Given the description of an element on the screen output the (x, y) to click on. 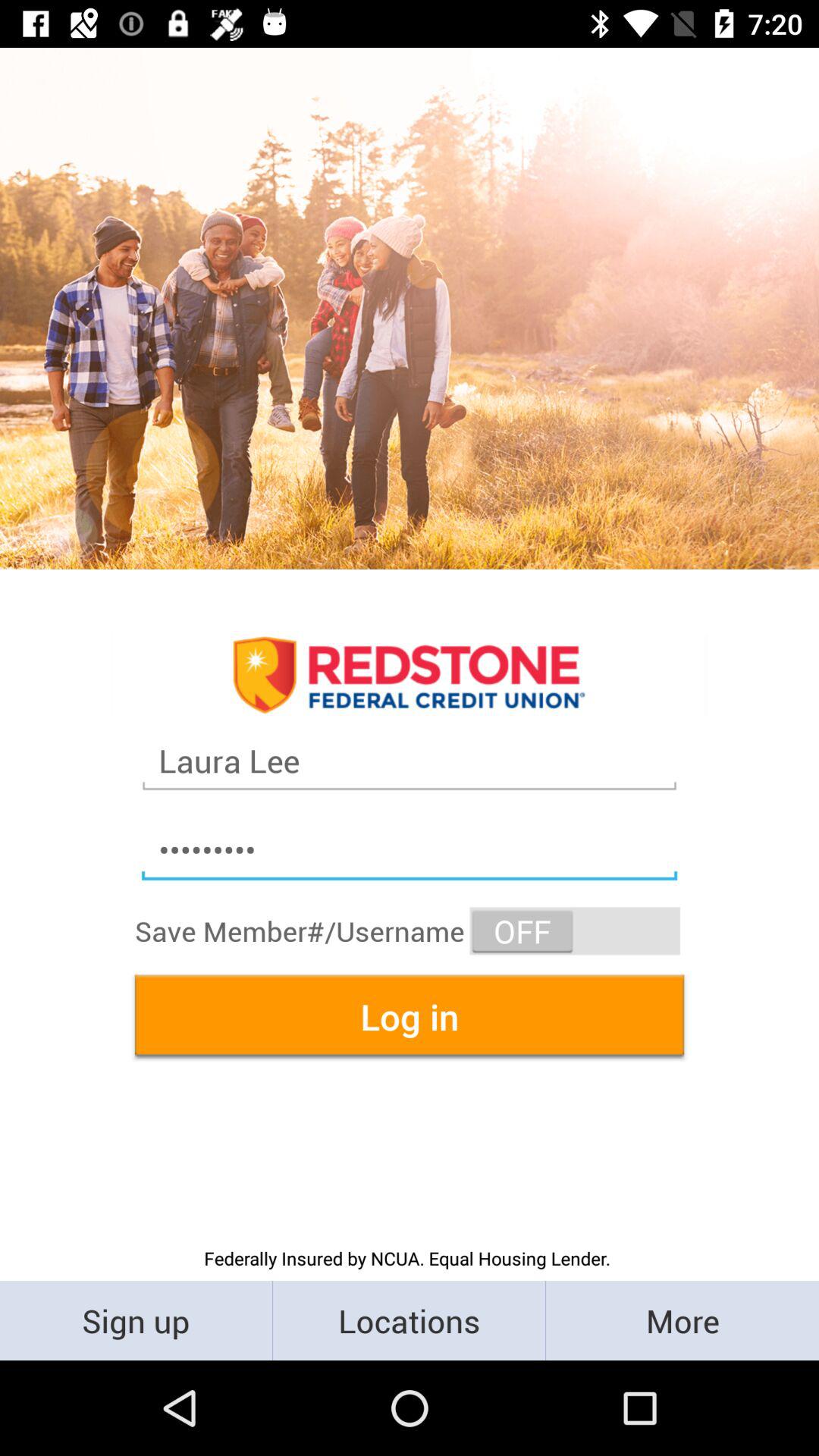
click the more at the bottom right corner (682, 1320)
